Given the description of an element on the screen output the (x, y) to click on. 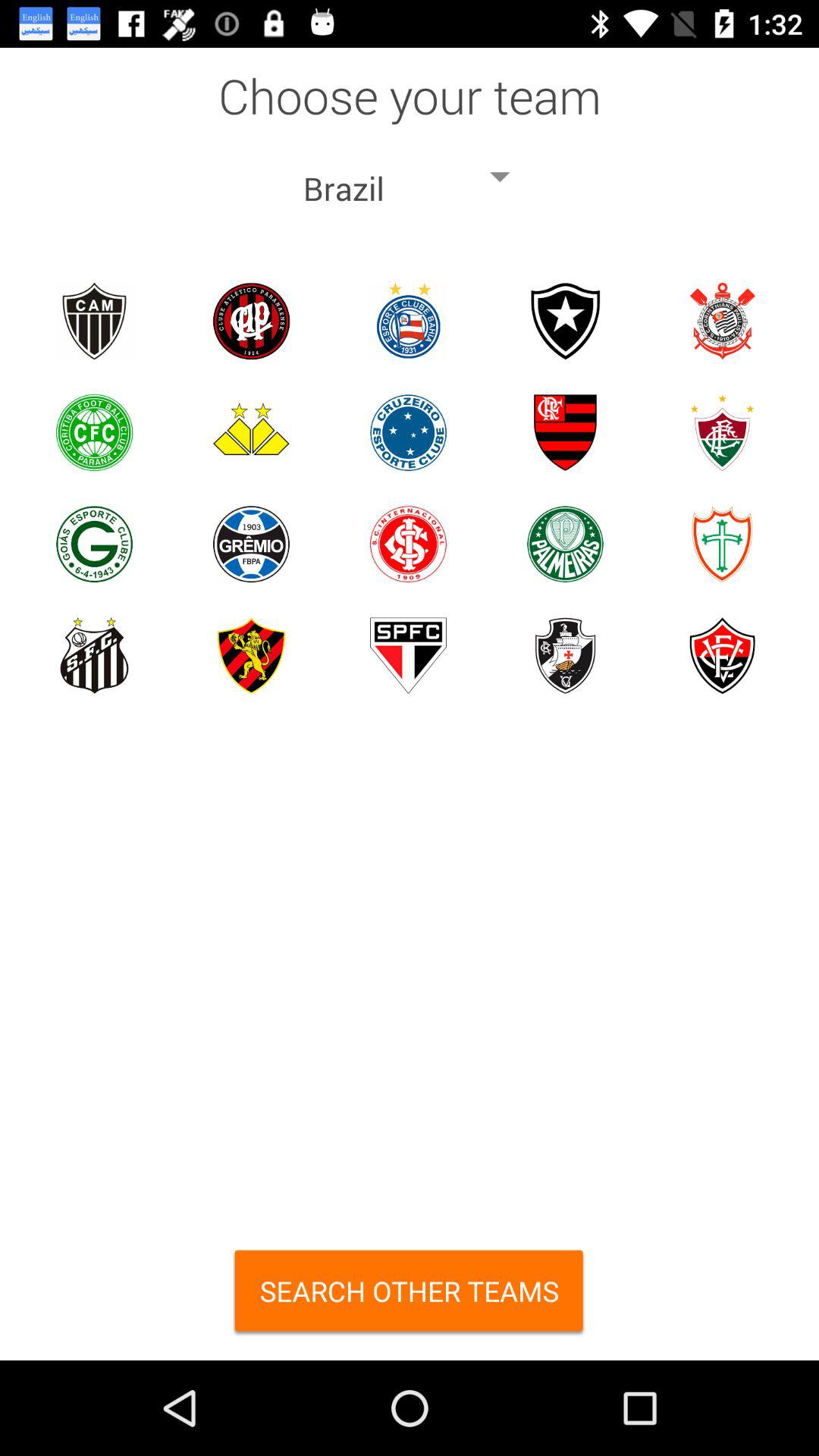
choose portuguesa team select portuguesa team (722, 544)
